Given the description of an element on the screen output the (x, y) to click on. 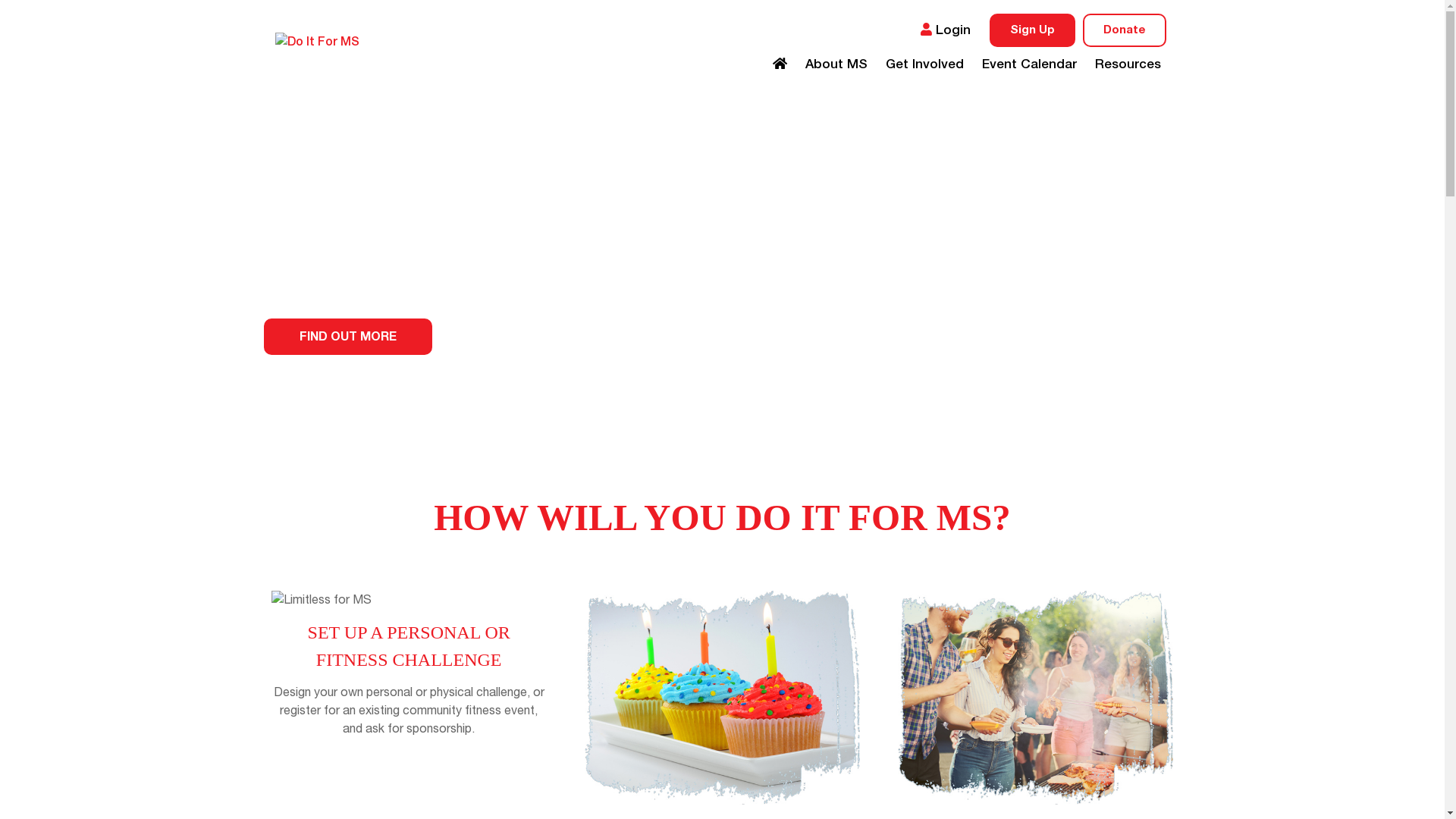
FIND OUT MORE Element type: text (347, 336)
Get Involved Element type: text (924, 64)
Donate Element type: text (1124, 30)
Resources Element type: text (1127, 64)
Login Element type: text (945, 30)
About MS Element type: text (836, 64)
Limitless for MS Element type: hover (408, 599)
Sign Up Element type: text (1031, 30)
Event Calendar Element type: text (1028, 64)
